Given the description of an element on the screen output the (x, y) to click on. 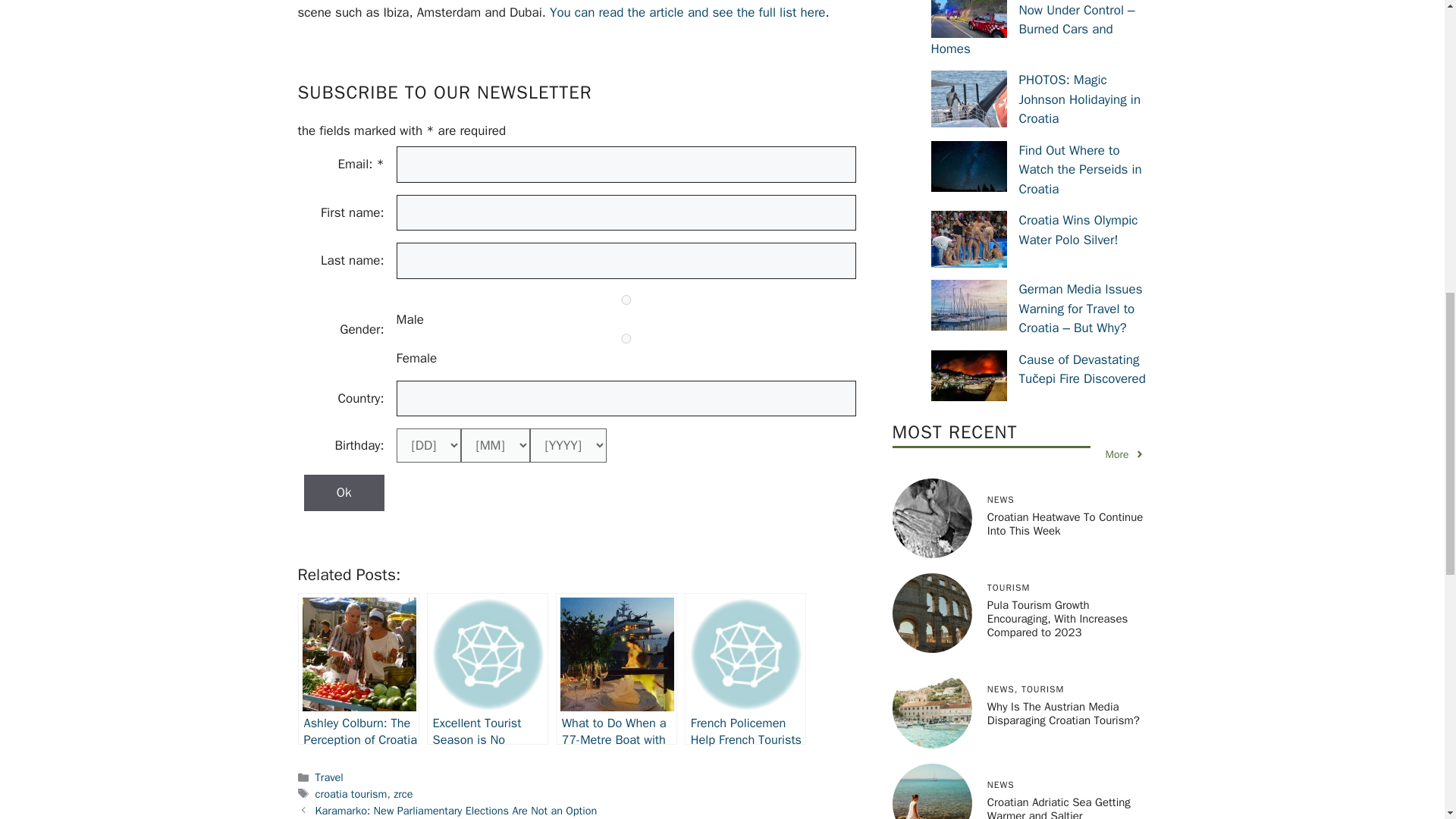
F (626, 338)
M (626, 299)
Ok (343, 493)
